Given the description of an element on the screen output the (x, y) to click on. 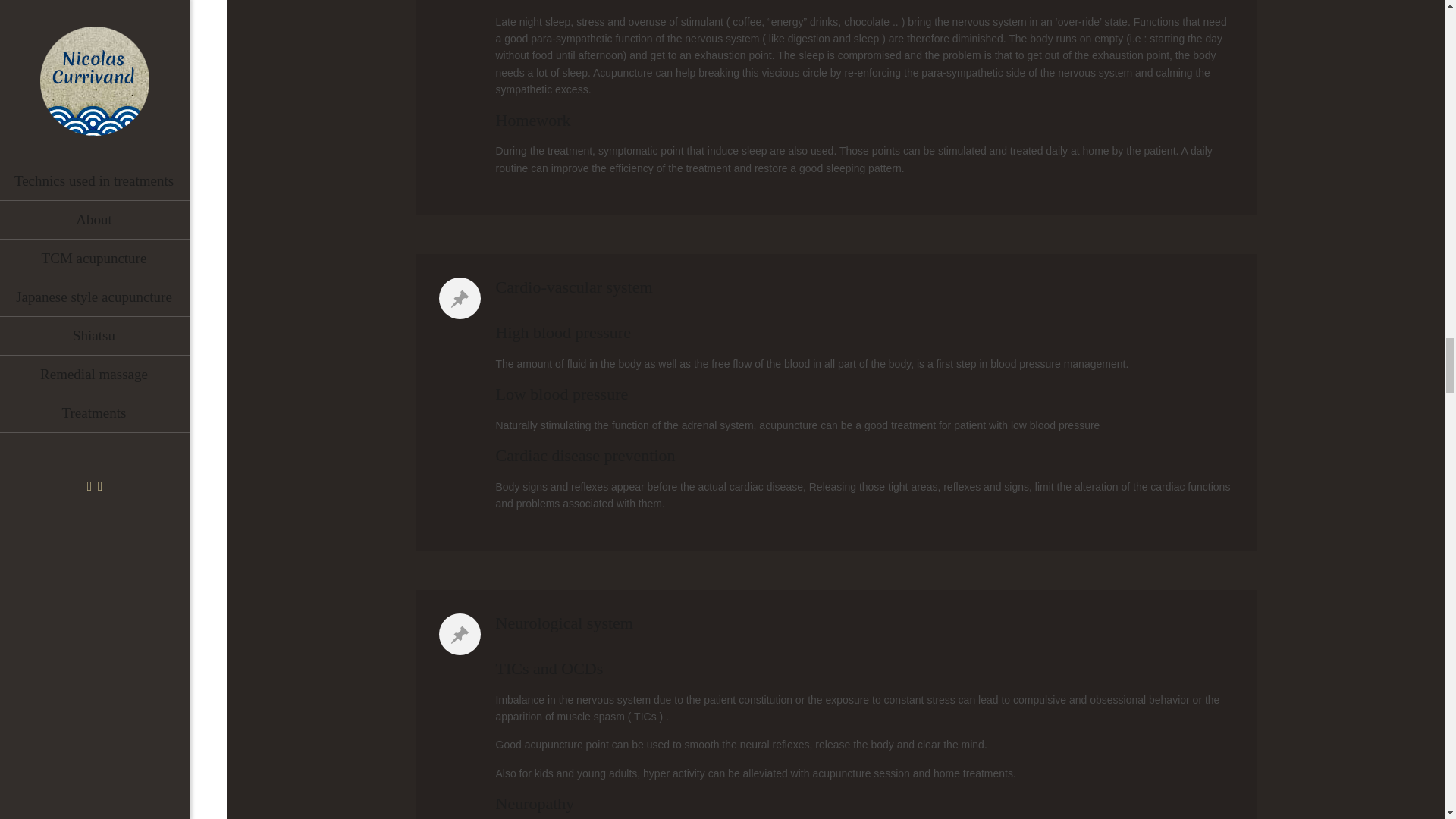
Cardio-vascular system (574, 286)
Neurological system (564, 622)
Neurological system (835, 623)
Cardio-vascular system (835, 287)
